Given the description of an element on the screen output the (x, y) to click on. 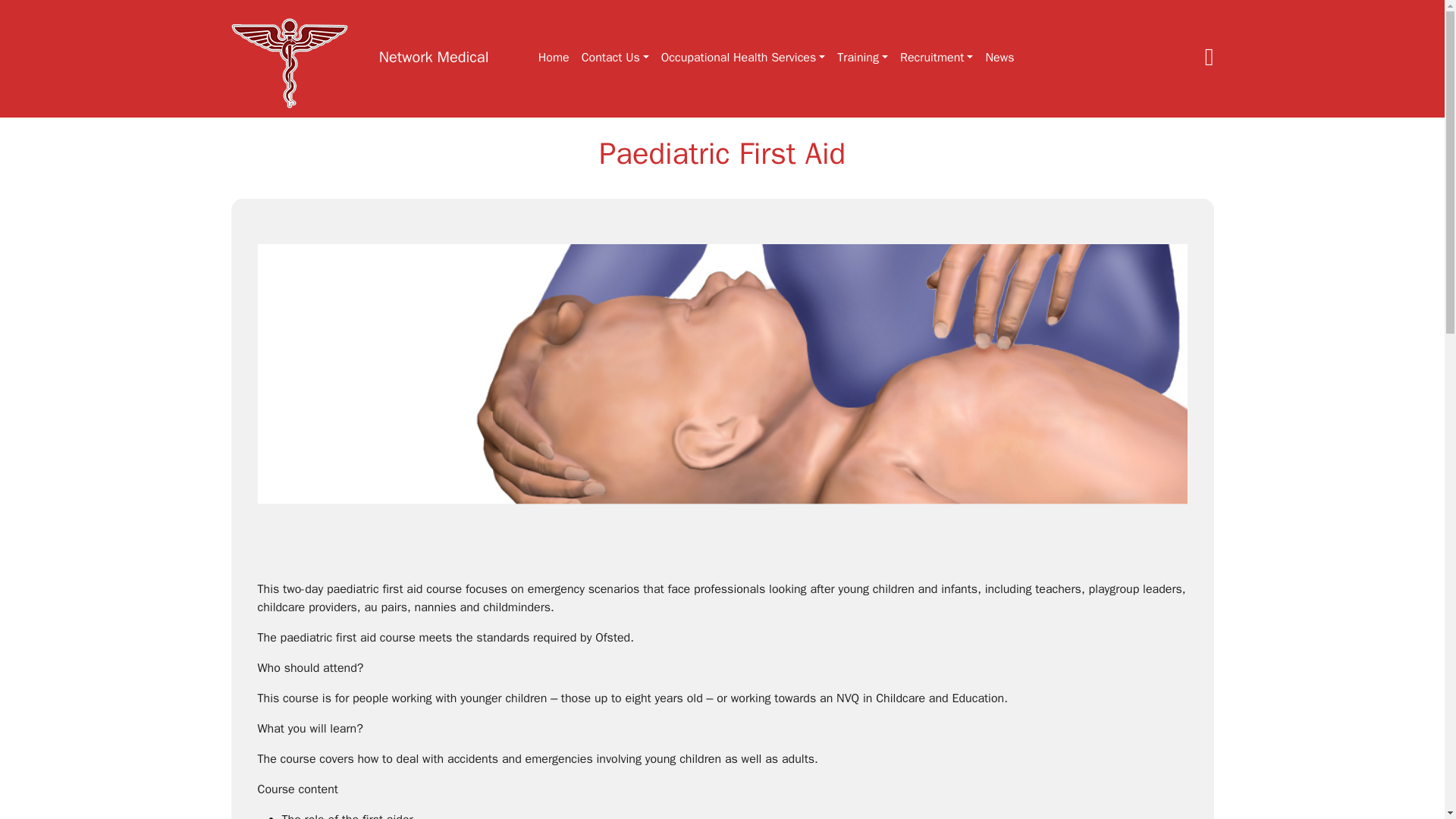
Network Medical (433, 57)
Contact Us (615, 57)
Contact Us (615, 57)
Network Medical (433, 57)
Occupational Health Services (743, 57)
Home (553, 57)
Home (553, 57)
Training (862, 57)
Occupational Health Services (743, 57)
